Given the description of an element on the screen output the (x, y) to click on. 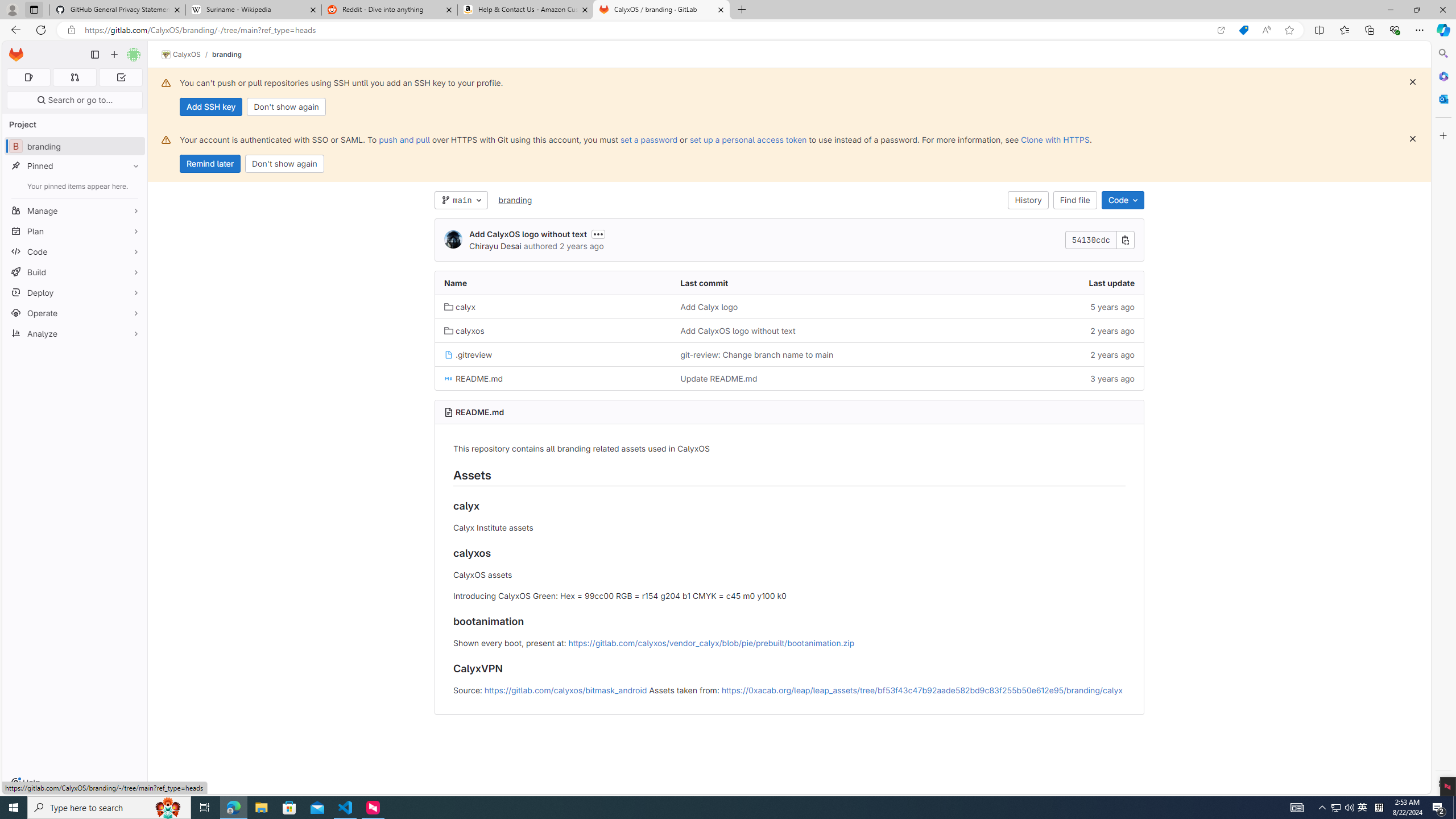
Toggle commit description (598, 234)
Class: s16 gl-alert-icon gl-alert-icon-no-title (165, 139)
git-review: Change branch name to main (789, 354)
set up a personal access token (747, 139)
Class: s16 gl-icon gl-button-icon  (1411, 138)
calyx (553, 306)
